Given the description of an element on the screen output the (x, y) to click on. 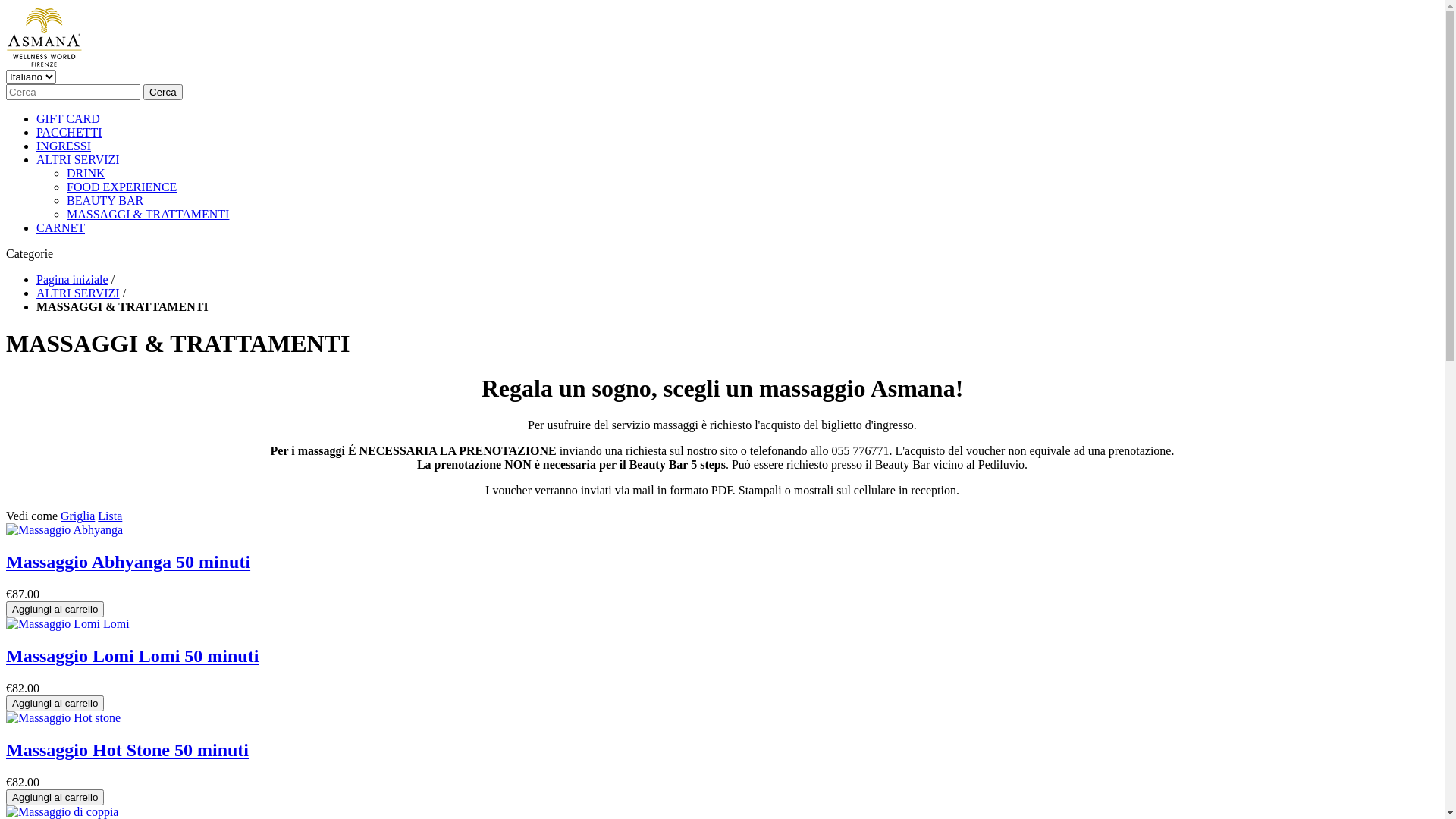
Pagina iniziale Element type: text (72, 279)
Massaggio Abhyanga Element type: hover (64, 529)
Aggiungi al carrello Element type: text (54, 797)
Lista Element type: text (109, 515)
INGRESSI Element type: text (63, 145)
Massaggio Lomi Lomi Element type: hover (67, 623)
Massaggio di coppia Element type: hover (62, 811)
Massaggio Abhyanga 50 minuti Element type: text (128, 561)
Aggiungi al carrello Element type: text (54, 609)
Massaggio Lomi Lomi Element type: hover (67, 623)
PACCHETTI Element type: text (69, 131)
Griglia Element type: text (77, 515)
Asmana Wellness World Element type: hover (43, 36)
Massaggio Hot stone Element type: hover (63, 717)
Massaggio Hot Stone 50 minuti Element type: text (127, 749)
Massaggio Hot stone Element type: hover (63, 717)
FOOD EXPERIENCE Element type: text (121, 186)
ALTRI SERVIZI Element type: text (77, 292)
Aggiungi al carrello Element type: text (54, 703)
BEAUTY BAR Element type: text (104, 200)
GIFT CARD Element type: text (68, 118)
MASSAGGI & TRATTAMENTI Element type: text (147, 213)
Cerca Element type: text (162, 92)
CARNET Element type: text (60, 227)
Massaggio Abhyanga Element type: hover (64, 529)
DRINK Element type: text (85, 172)
ALTRI SERVIZI Element type: text (77, 159)
Massaggio Lomi Lomi 50 minuti Element type: text (132, 655)
